Given the description of an element on the screen output the (x, y) to click on. 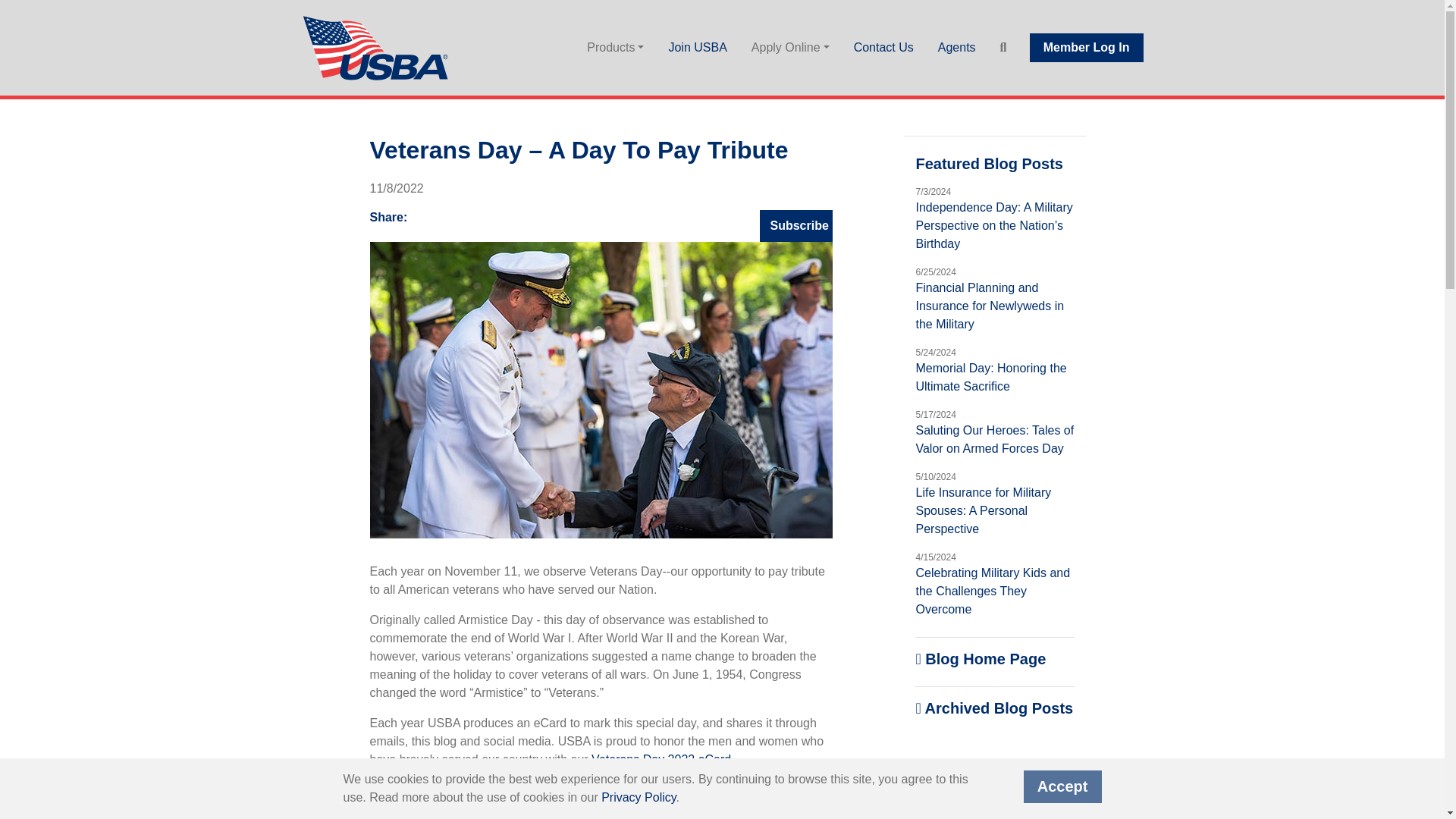
Click here to return to the USBA homepage (376, 47)
Products (615, 47)
